Given the description of an element on the screen output the (x, y) to click on. 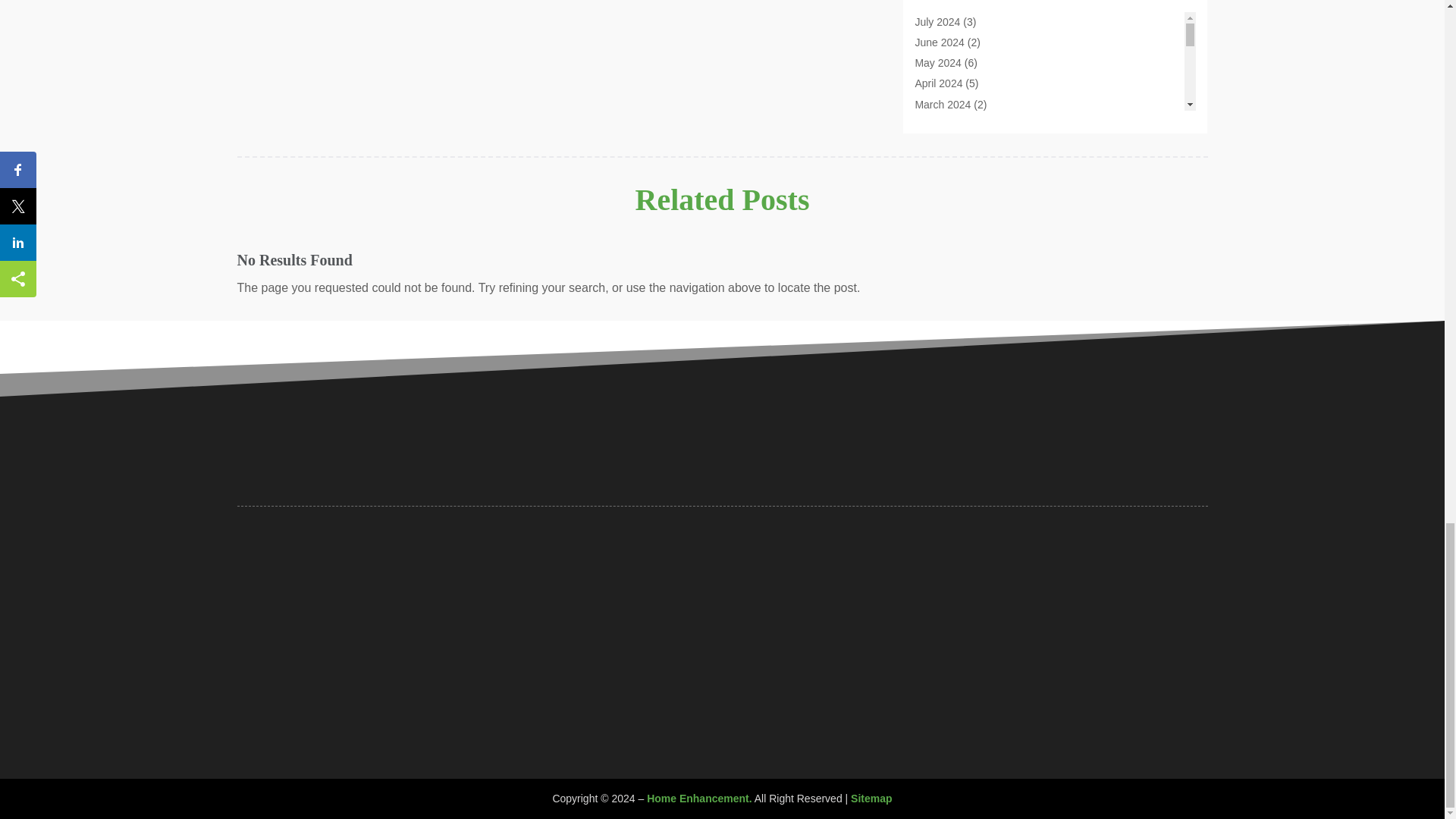
Commercial Contractors (971, 21)
Construction And Maintenance (986, 103)
Construction Company (968, 123)
Concrete Suppliers (959, 61)
Cleaning Tips And Tools (970, 3)
Concrete Contractor (962, 41)
